Given the description of an element on the screen output the (x, y) to click on. 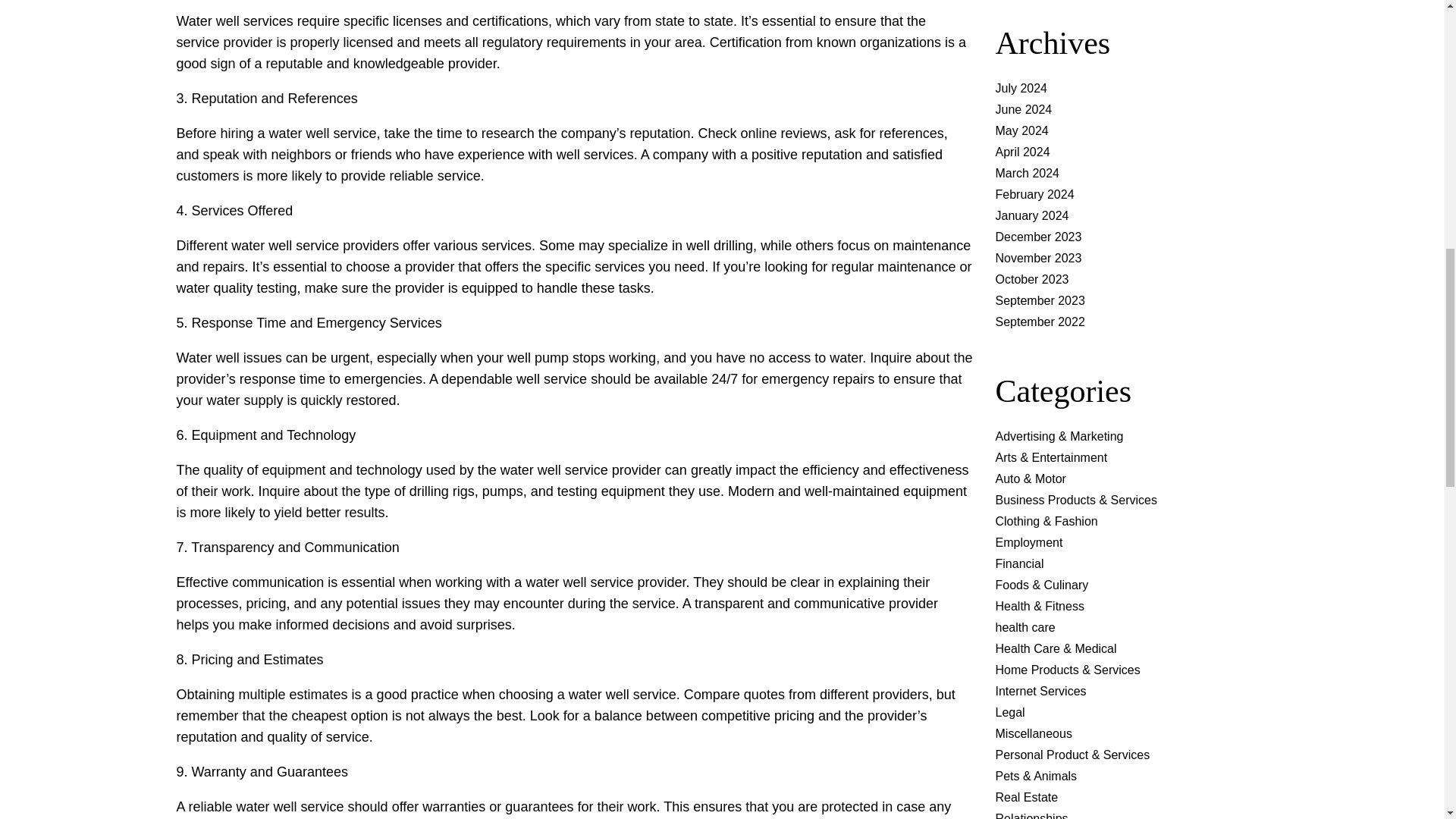
January 2024 (1031, 215)
July 2024 (1020, 88)
April 2024 (1021, 151)
May 2024 (1021, 130)
February 2024 (1034, 194)
June 2024 (1022, 109)
March 2024 (1026, 173)
December 2023 (1037, 236)
